Given the description of an element on the screen output the (x, y) to click on. 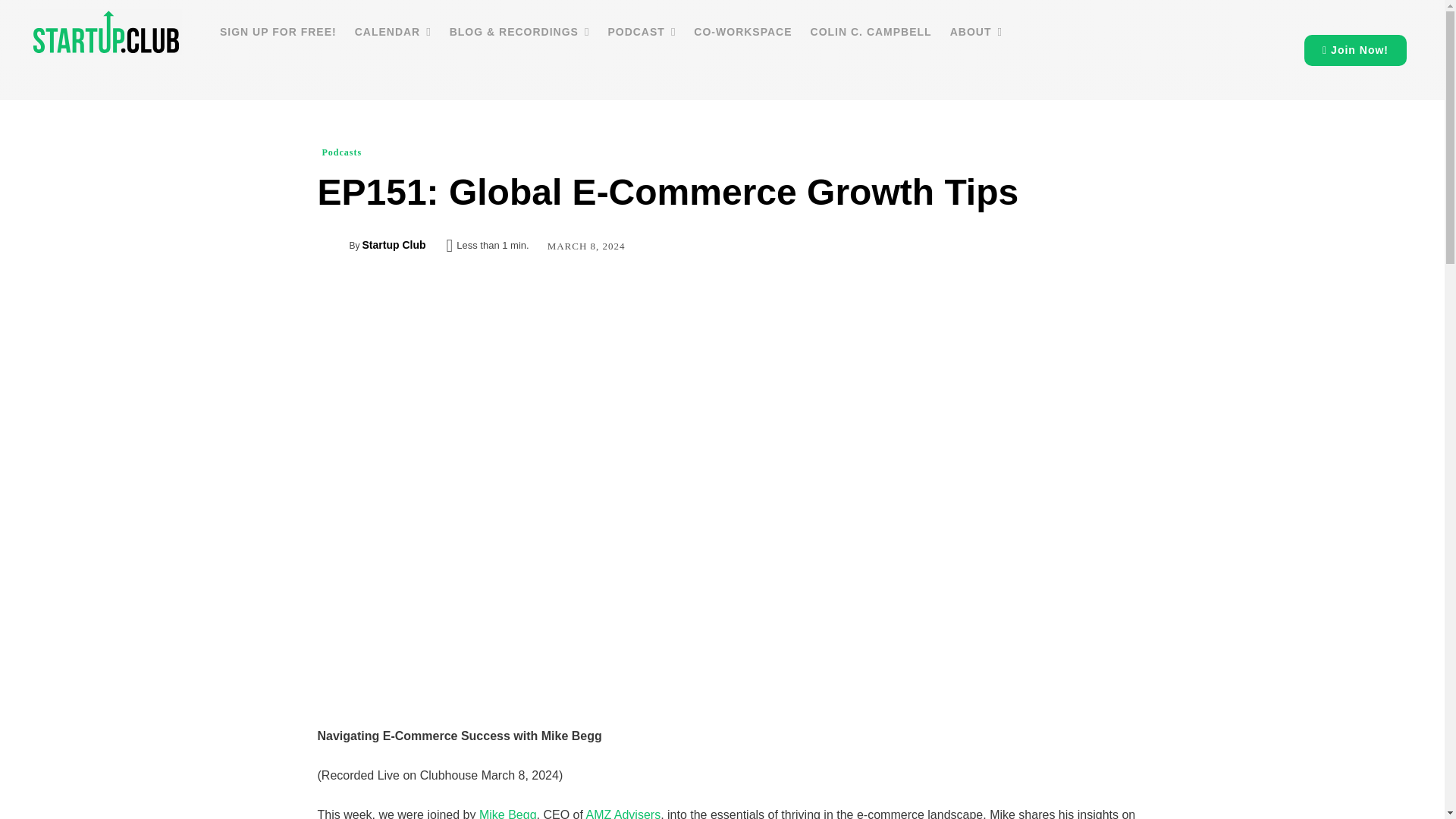
SIGN UP FOR FREE! (277, 31)
CALENDAR (392, 31)
